Given the description of an element on the screen output the (x, y) to click on. 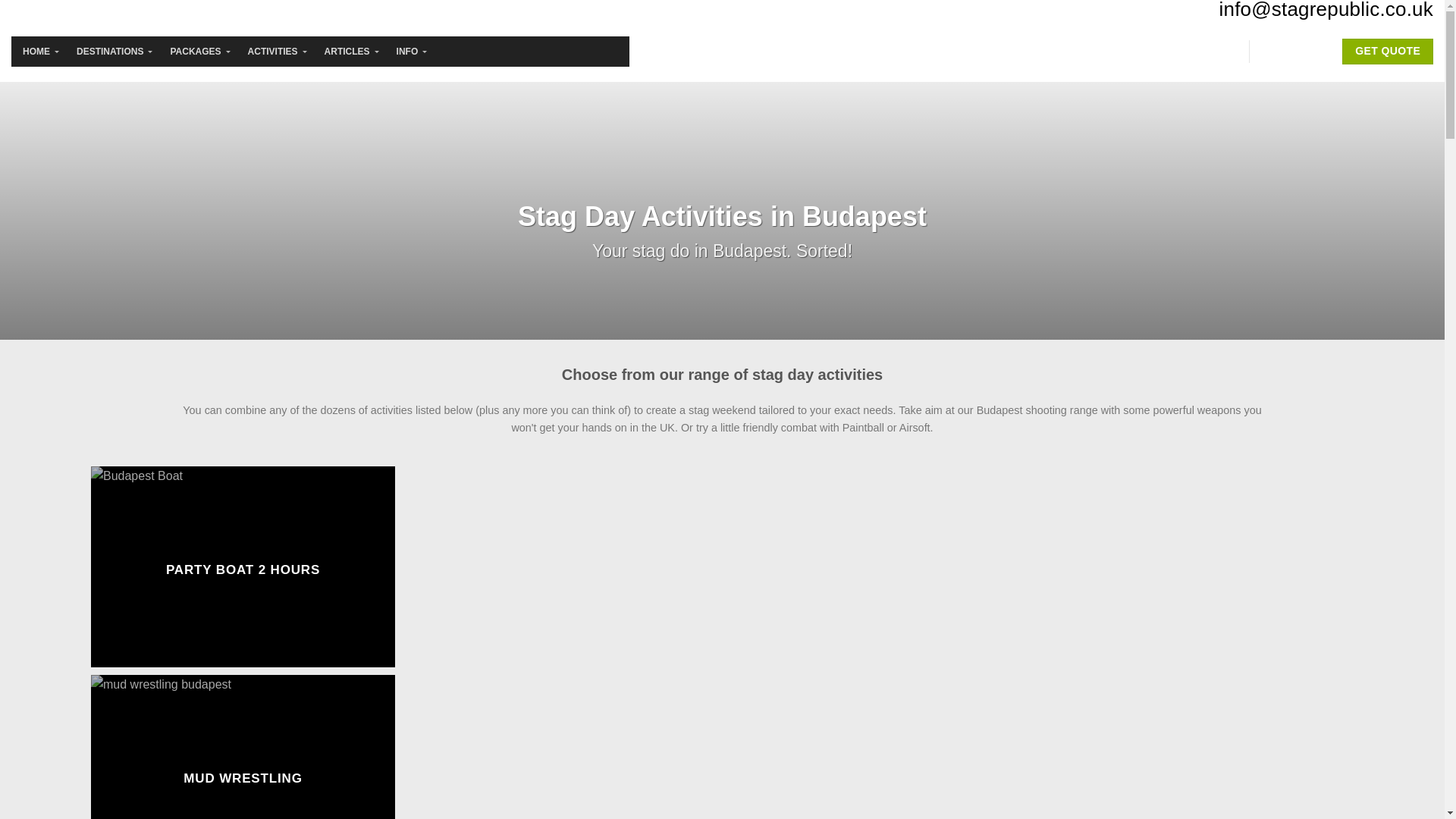
Stag Republic - Stag Weekends Abroad (722, 62)
HOME (38, 51)
